Given the description of an element on the screen output the (x, y) to click on. 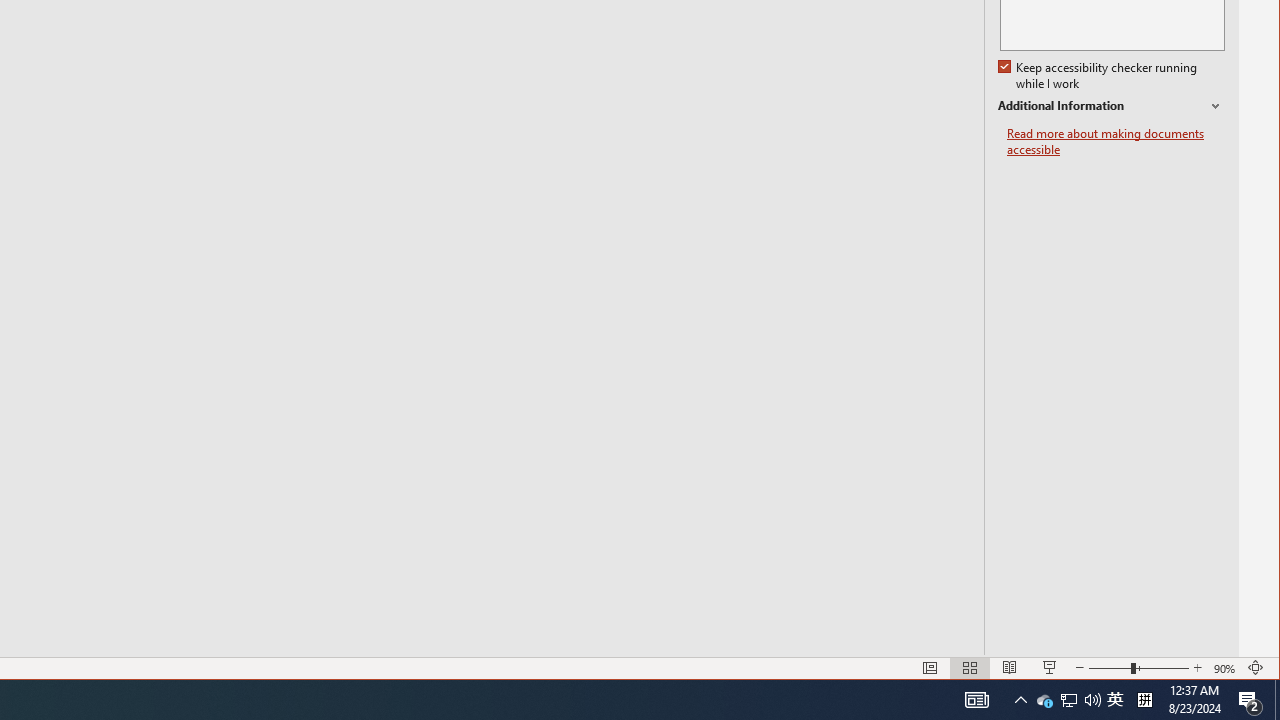
Zoom 90% (1225, 668)
